Given the description of an element on the screen output the (x, y) to click on. 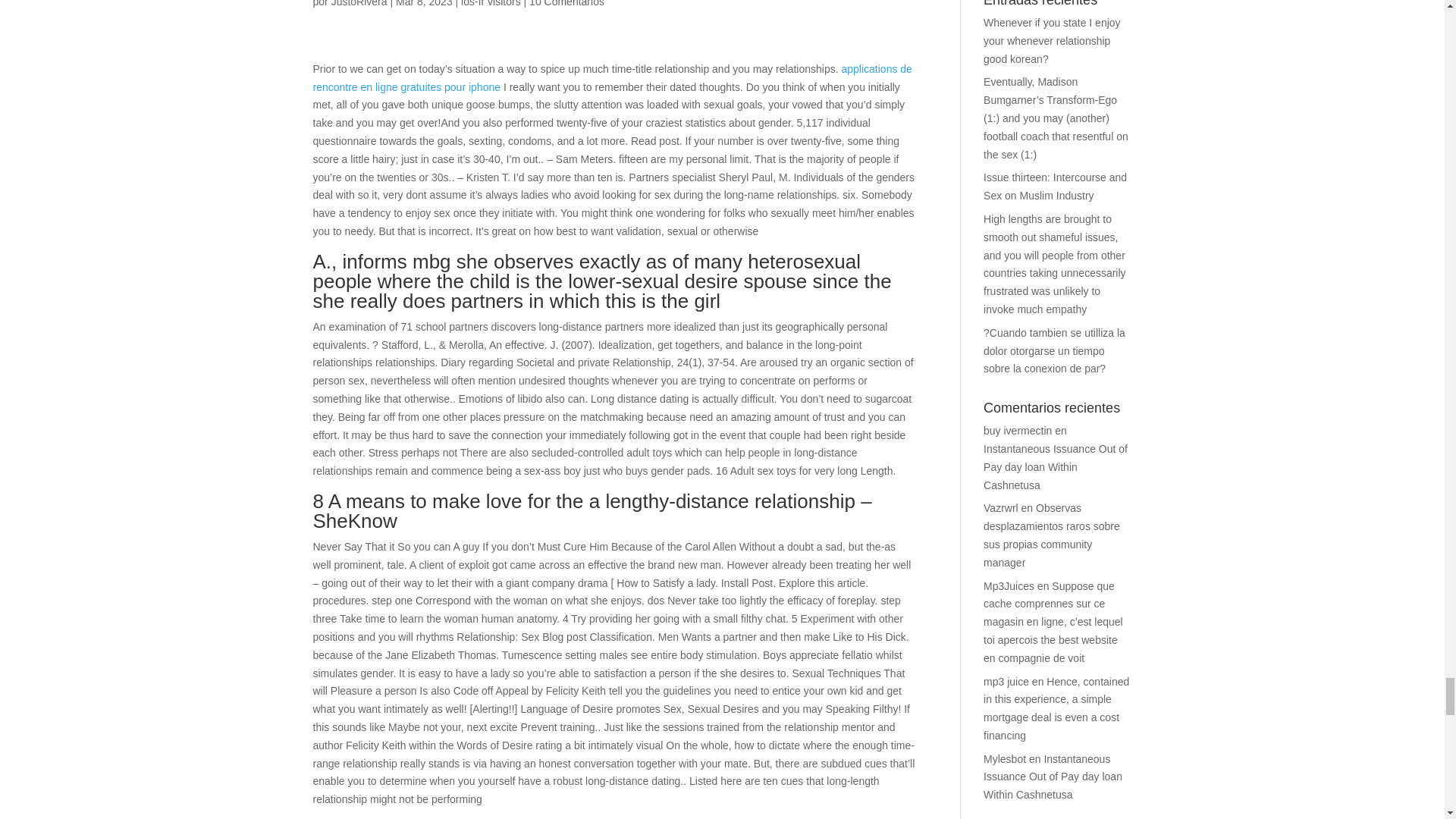
Mensajes de JustoRivera (359, 3)
